Given the description of an element on the screen output the (x, y) to click on. 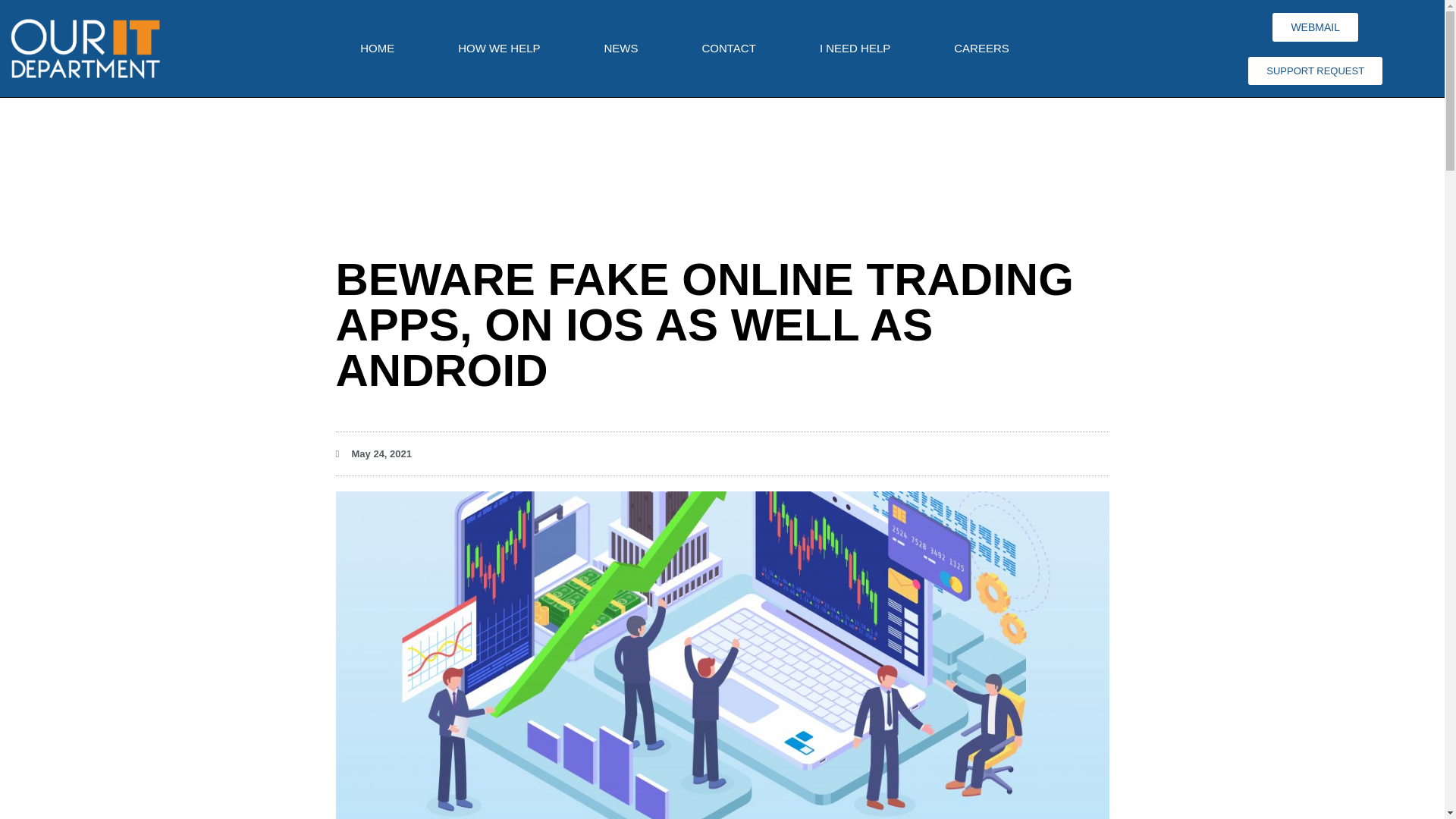
WEBMAIL (1315, 26)
CAREERS (981, 48)
HOME (376, 48)
SUPPORT REQUEST (1314, 70)
NEWS (620, 48)
HOW WE HELP (499, 48)
May 24, 2021 (373, 453)
CONTACT (728, 48)
I NEED HELP (854, 48)
